Given the description of an element on the screen output the (x, y) to click on. 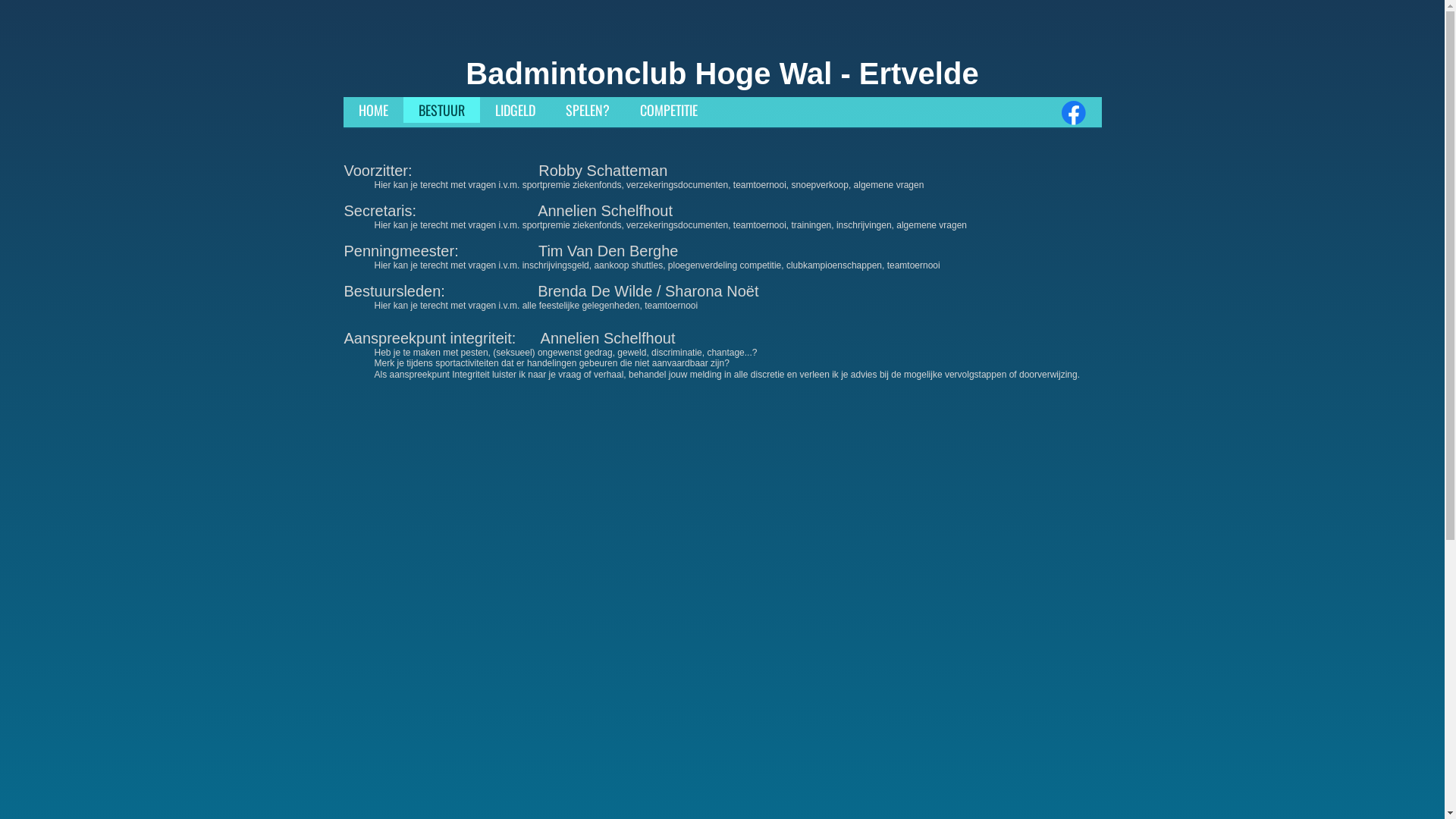
LIDGELD Element type: text (514, 109)
HOME Element type: text (372, 109)
SPELEN? Element type: text (587, 109)
COMPETITIE Element type: text (668, 109)
BESTUUR Element type: text (441, 109)
